Given the description of an element on the screen output the (x, y) to click on. 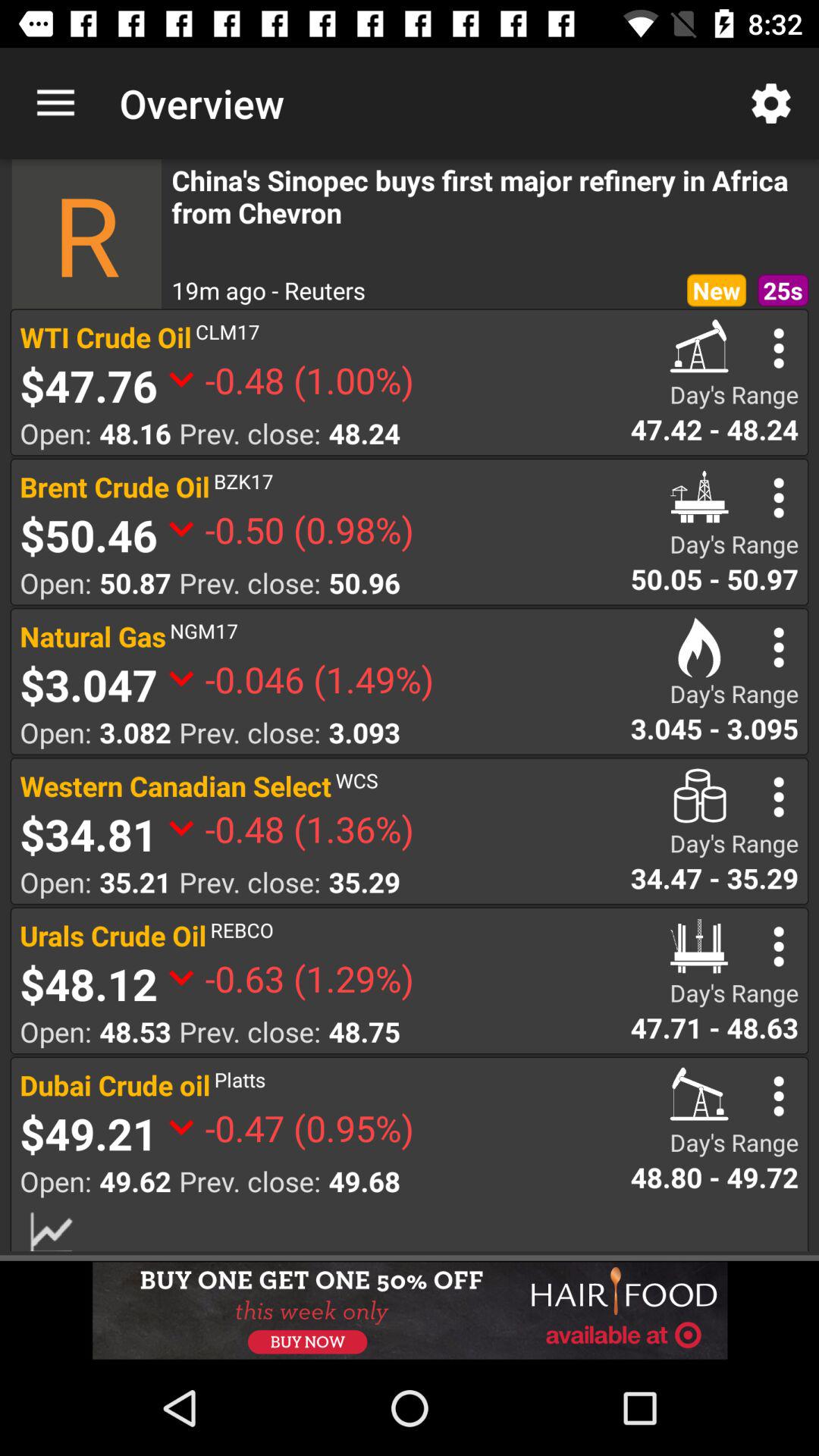
options (778, 348)
